Given the description of an element on the screen output the (x, y) to click on. 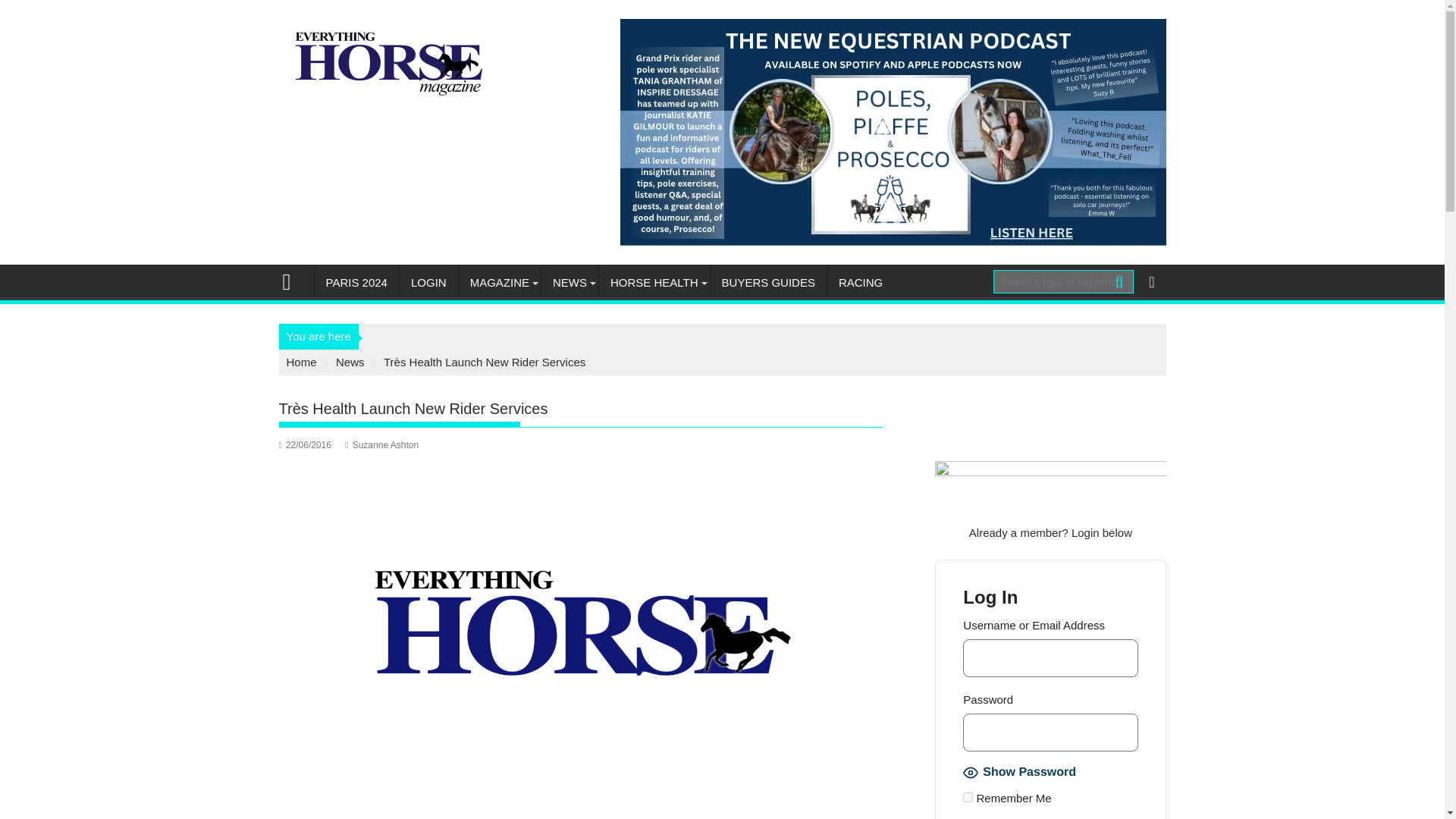
MAGAZINE (499, 282)
BUYERS GUIDES (768, 282)
NEWS (569, 282)
RACING (860, 282)
PARIS 2024 (355, 282)
LOGIN (428, 282)
News (350, 361)
HORSE HEALTH (654, 282)
Home (301, 361)
Everything Horse Magazine (293, 280)
forever (967, 797)
